Given the description of an element on the screen output the (x, y) to click on. 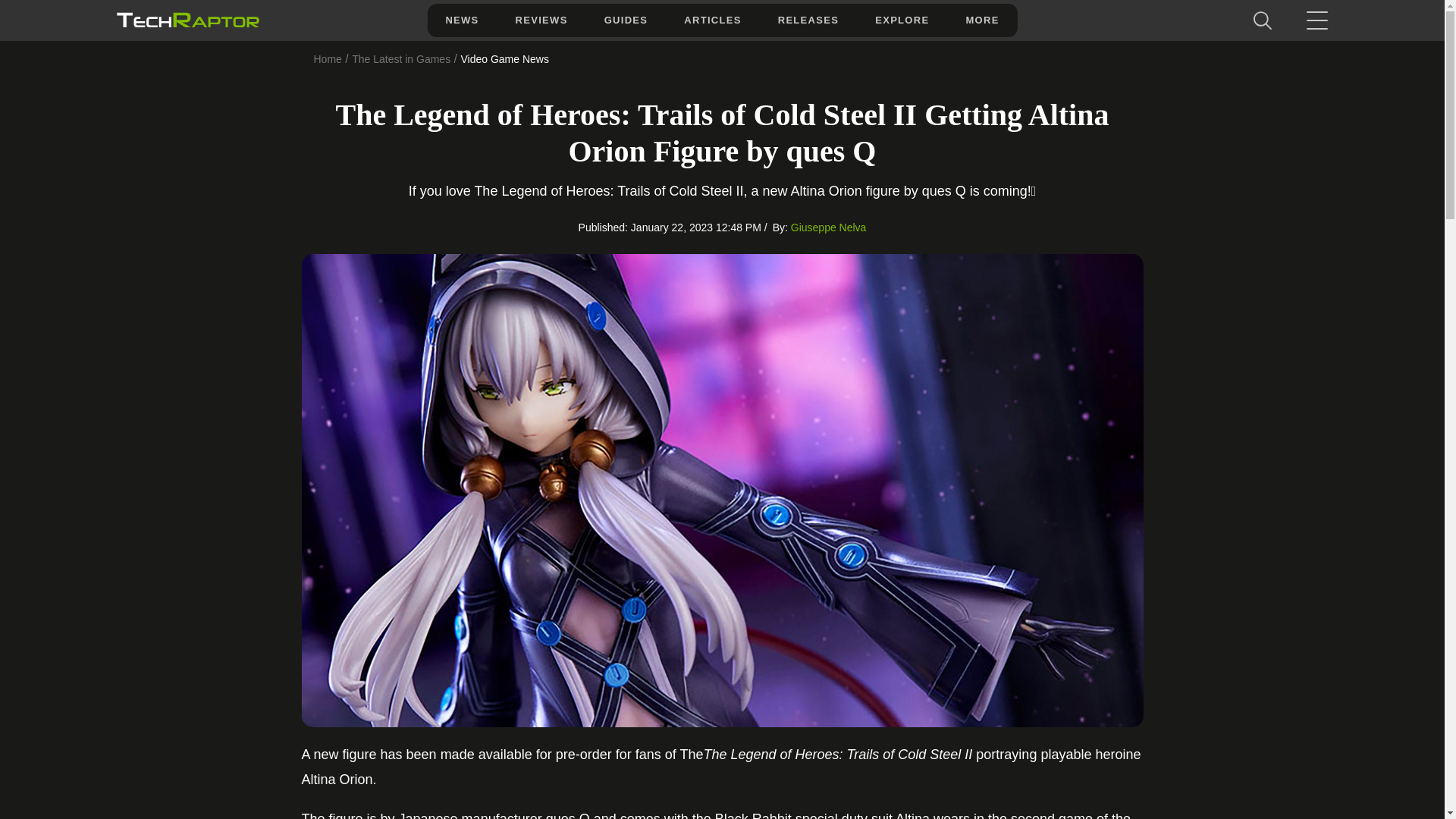
ARTICLES (711, 20)
RELEASES (807, 20)
REVIEWS (541, 20)
NEWS (461, 20)
TechRaptor Home (187, 20)
GUIDES (626, 20)
